Given the description of an element on the screen output the (x, y) to click on. 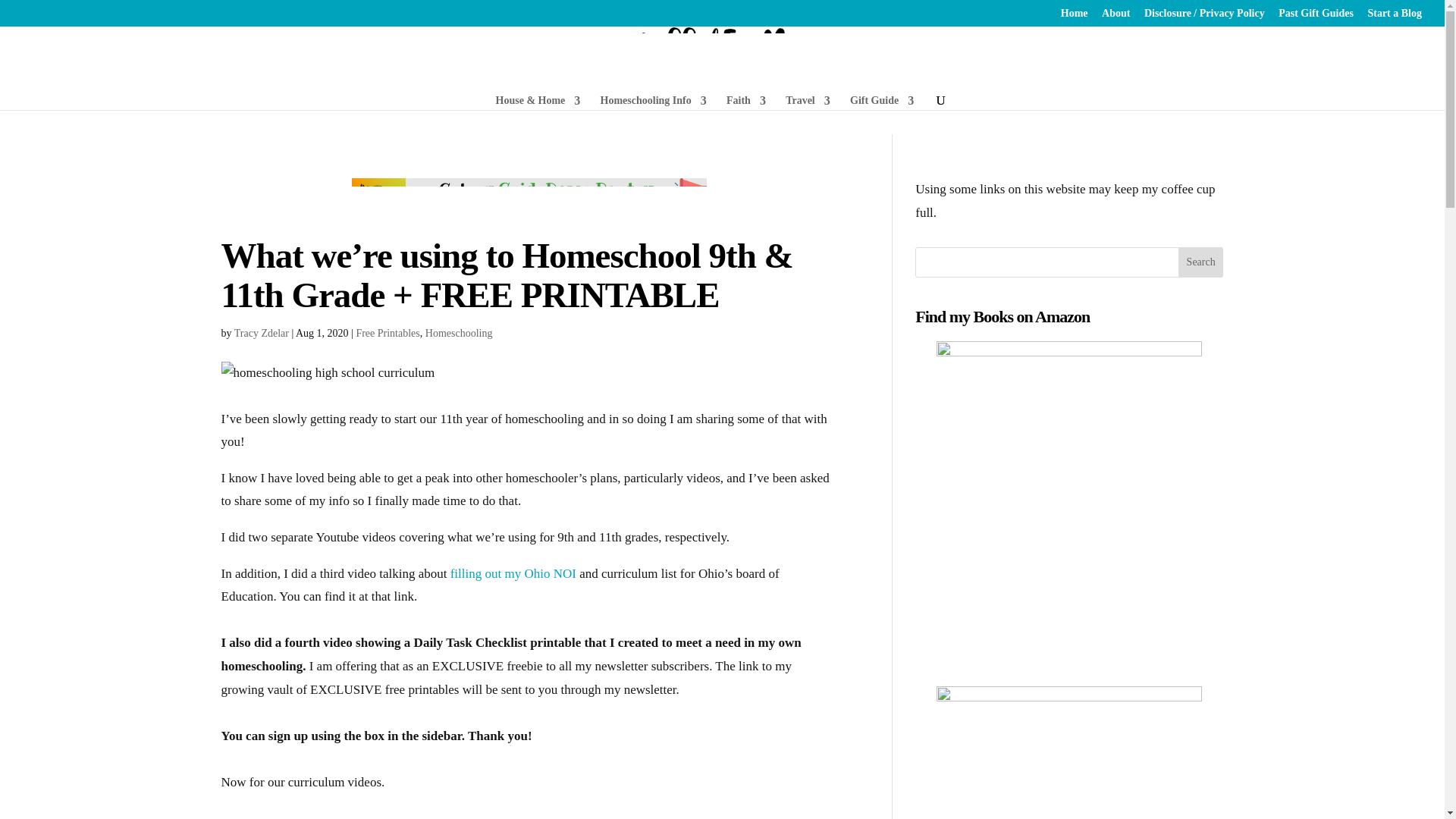
Past Gift Guides (1316, 16)
About (1115, 16)
Search (1200, 262)
Homeschooling Info (652, 102)
Start a Blog (1394, 16)
Travel (807, 102)
Faith (745, 102)
Posts by Tracy Zdelar (261, 333)
Home (1074, 16)
